Given the description of an element on the screen output the (x, y) to click on. 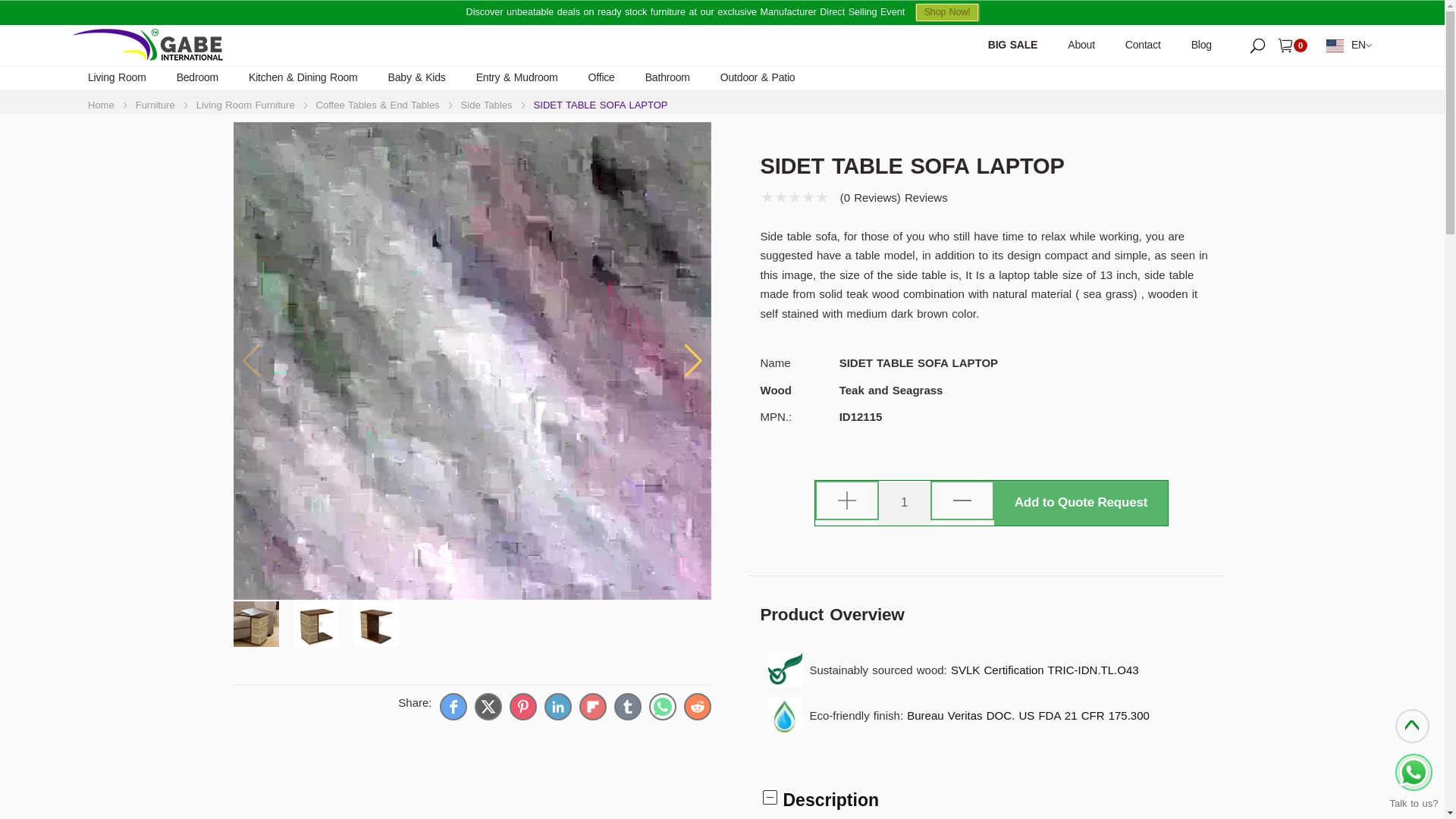
Find furniture (1257, 44)
1 (904, 502)
en (1346, 45)
